Given the description of an element on the screen output the (x, y) to click on. 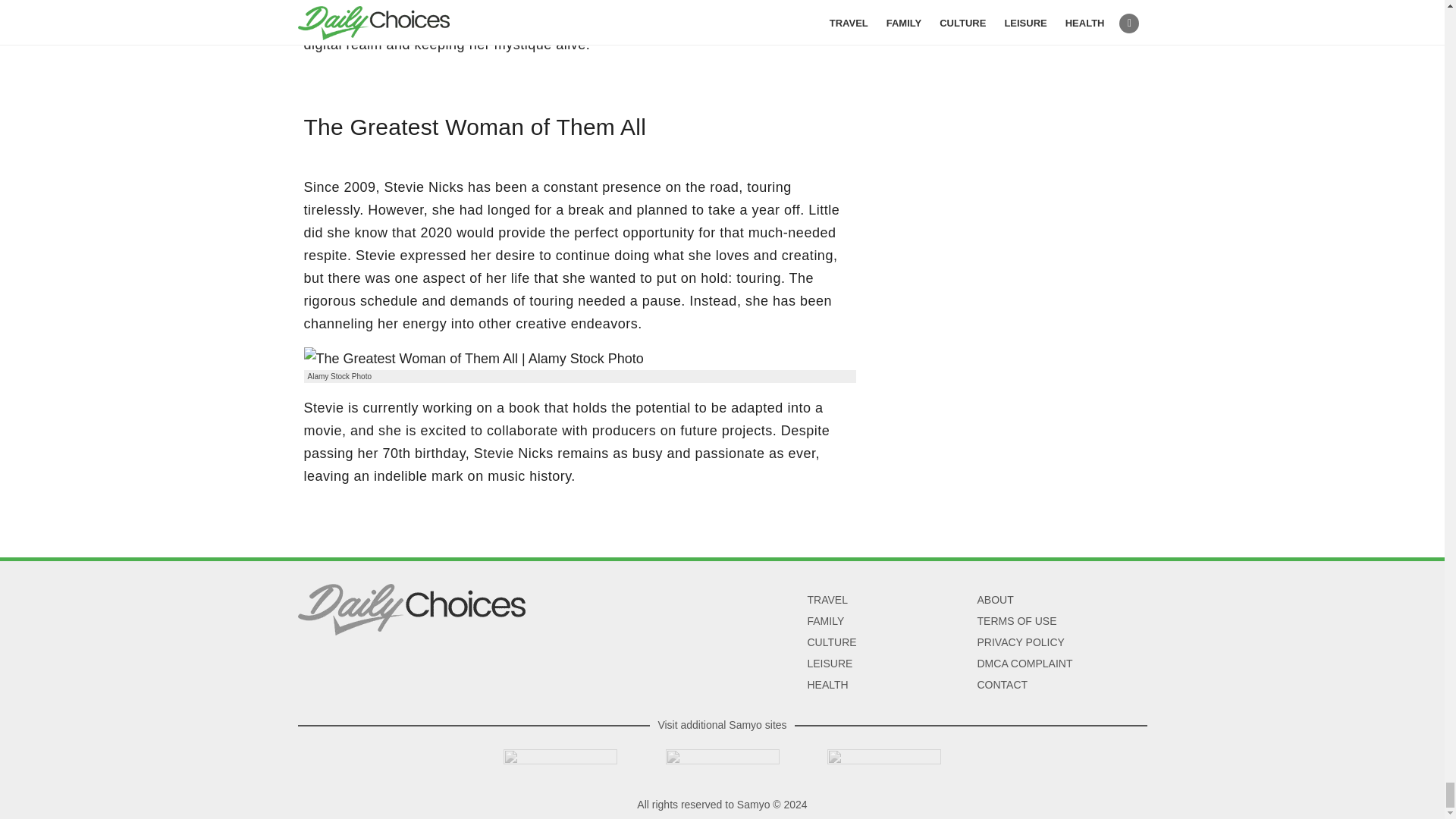
TERMS OF USE (1016, 620)
FAMILY (825, 620)
TRAVEL (826, 598)
CULTURE (831, 641)
LEISURE (828, 662)
PRIVACY POLICY (1020, 641)
CONTACT (1001, 684)
DMCA COMPLAINT (1023, 662)
ABOUT (994, 598)
HEALTH (826, 684)
